Given the description of an element on the screen output the (x, y) to click on. 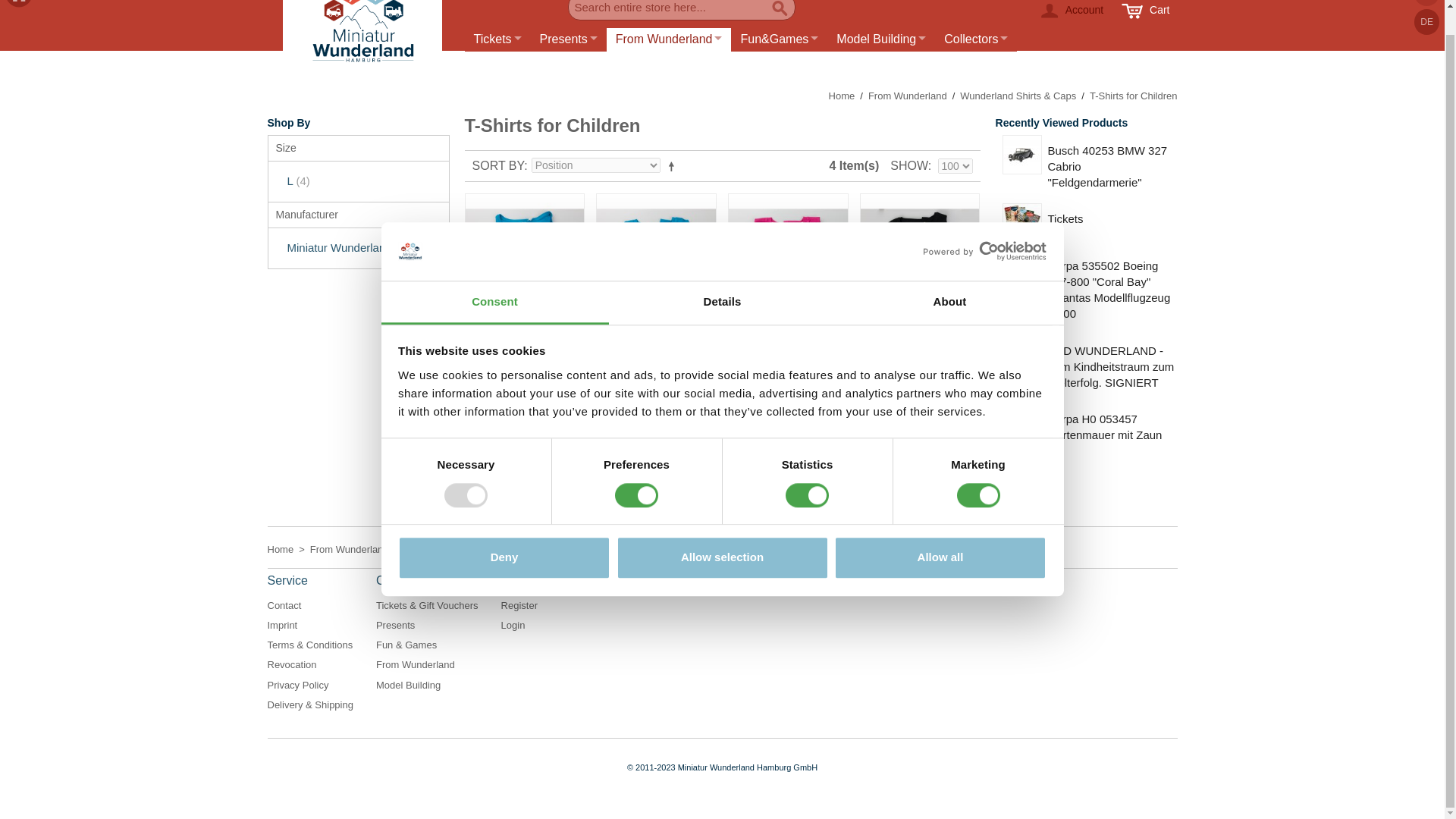
Allow all (940, 533)
Details (721, 277)
Account (1071, 13)
Allow selection (721, 533)
About (948, 277)
Cart (1144, 13)
Consent (494, 277)
Deny (503, 533)
Main Site (18, 4)
